Given the description of an element on the screen output the (x, y) to click on. 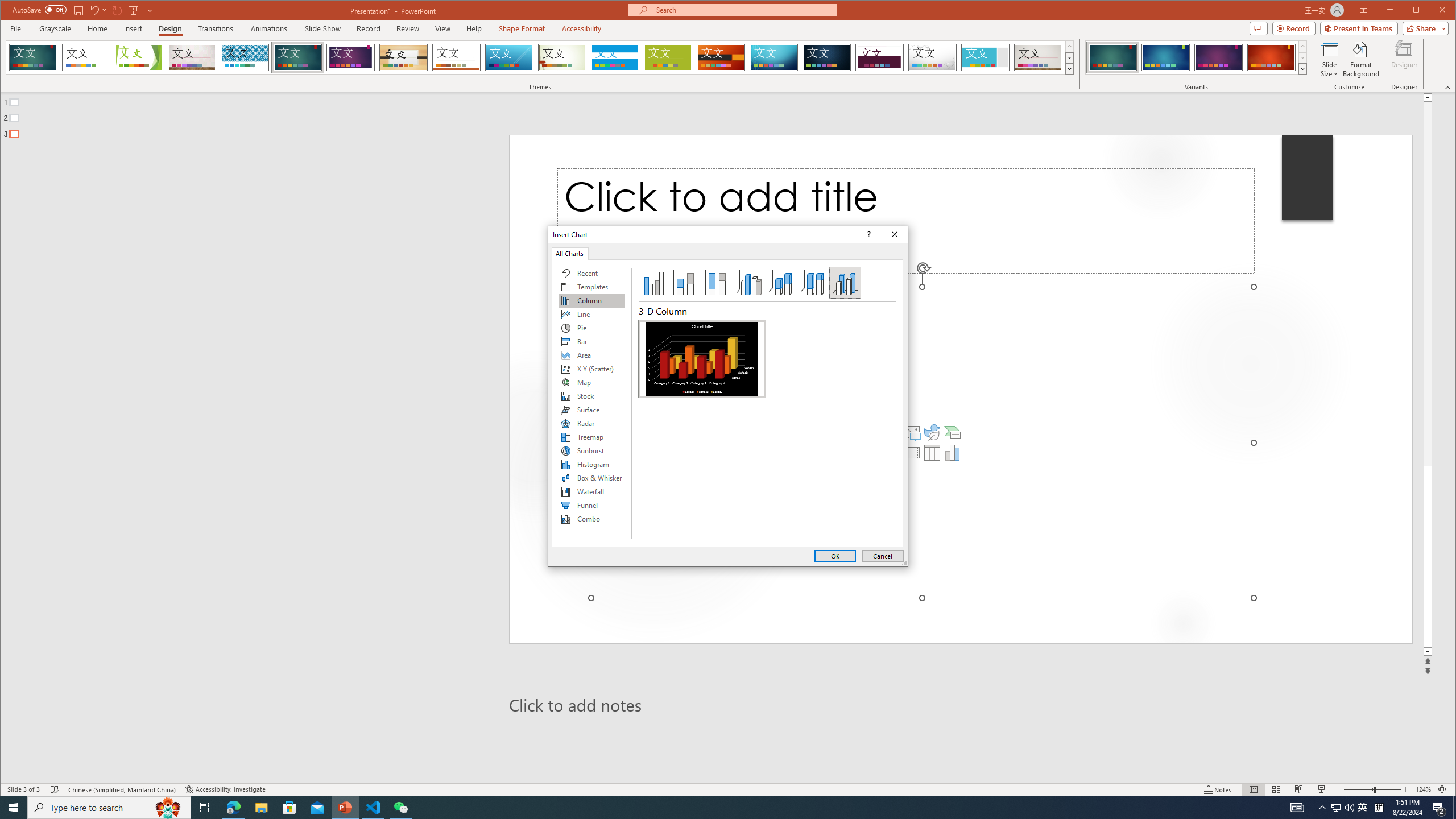
Slice (509, 57)
Ion (297, 57)
Frame (985, 57)
Insert Chart (952, 452)
Context help (867, 234)
Retrospect (456, 57)
Stacked Column (685, 282)
Box & Whisker (591, 477)
